Given the description of an element on the screen output the (x, y) to click on. 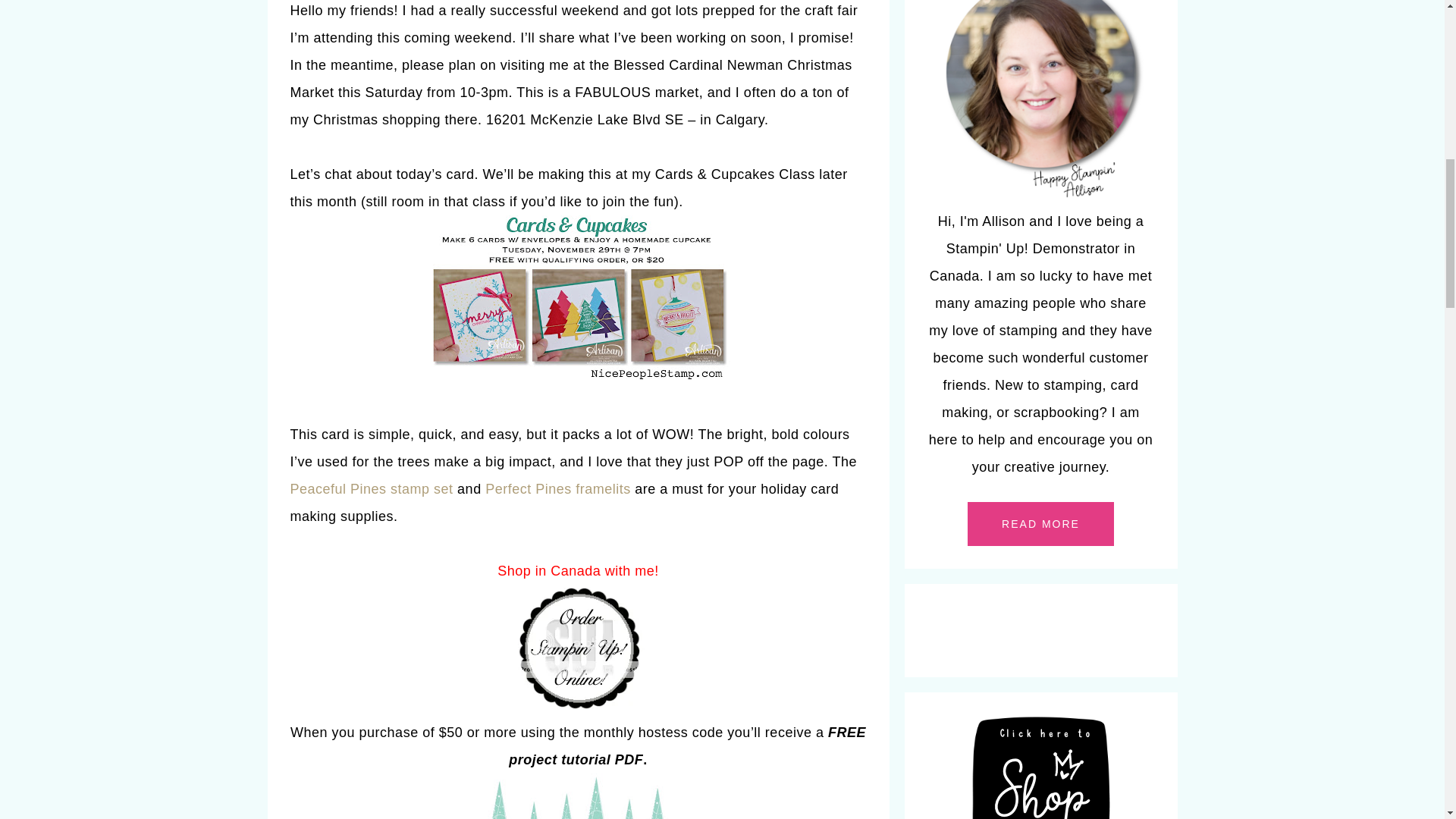
Peaceful Pines stamp set (370, 488)
Perfect Pines framelits (557, 488)
